Given the description of an element on the screen output the (x, y) to click on. 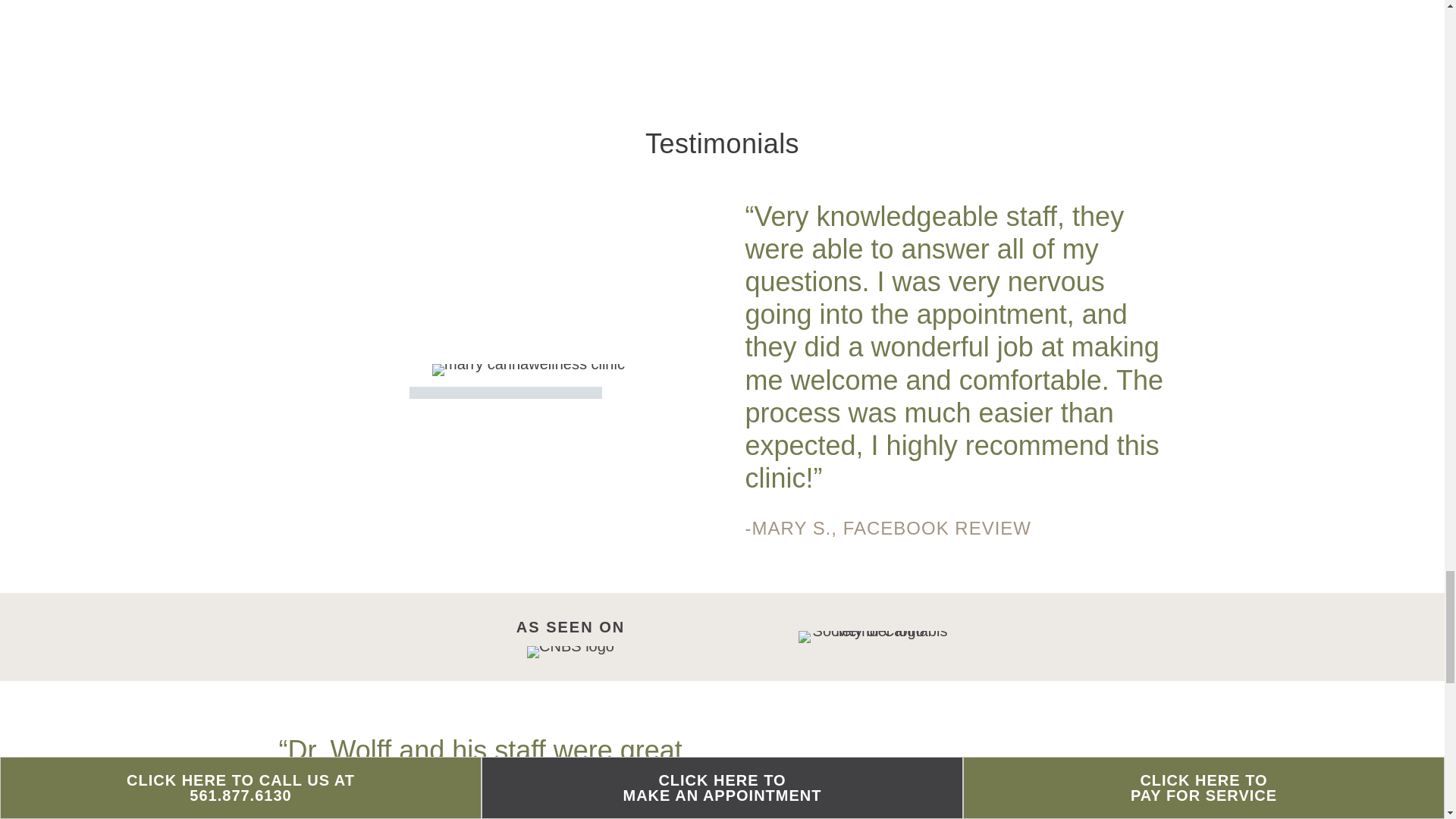
CNBS logo (570, 652)
AS SEEN ON (570, 627)
Cheerful excited woman walking in park (528, 369)
Society of Cannabis Member logo (873, 636)
